Given the description of an element on the screen output the (x, y) to click on. 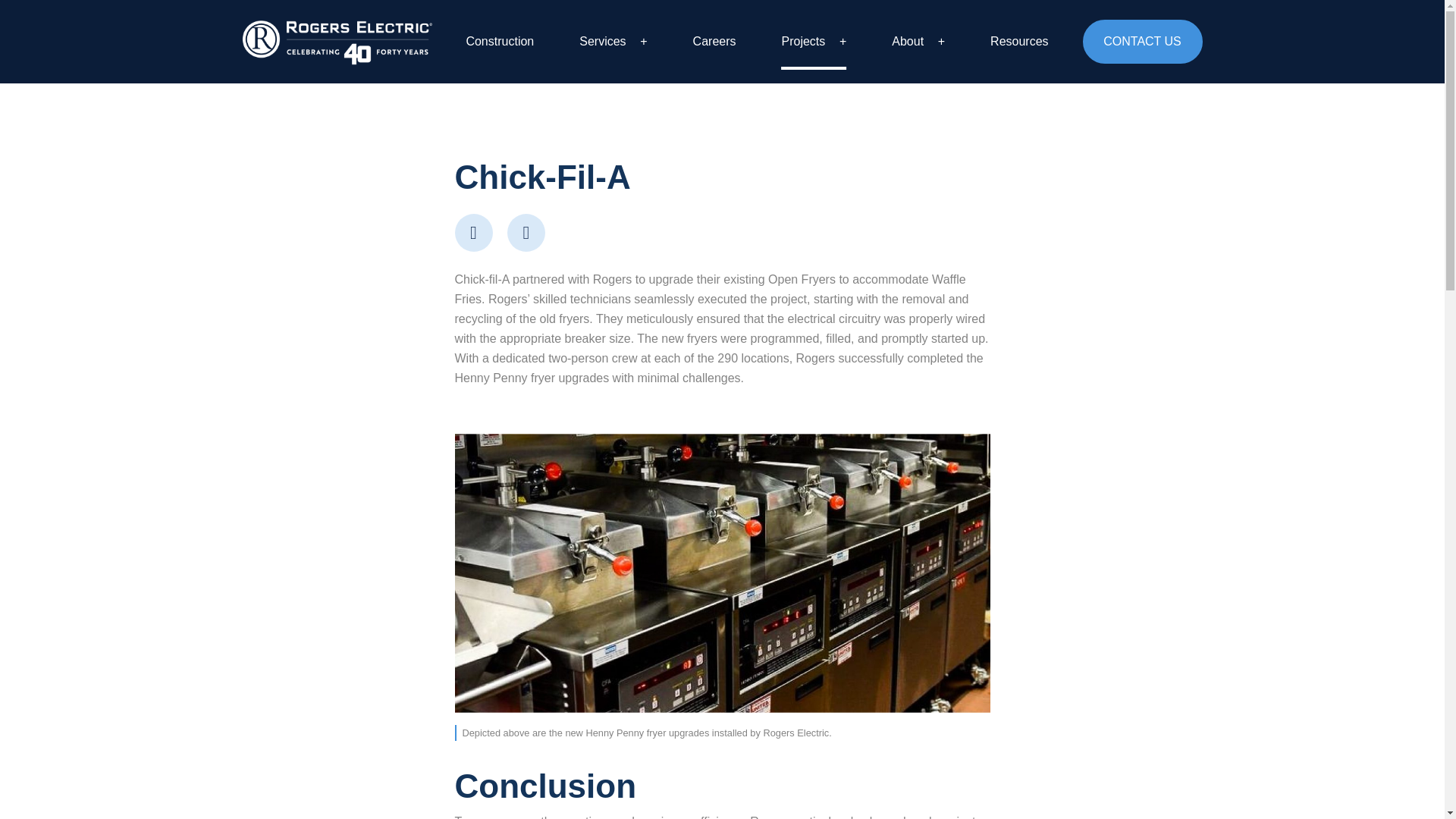
Construction (499, 41)
Projects (812, 41)
About (917, 41)
Resources (1019, 41)
Services (612, 41)
CONTACT US (1142, 41)
